Given the description of an element on the screen output the (x, y) to click on. 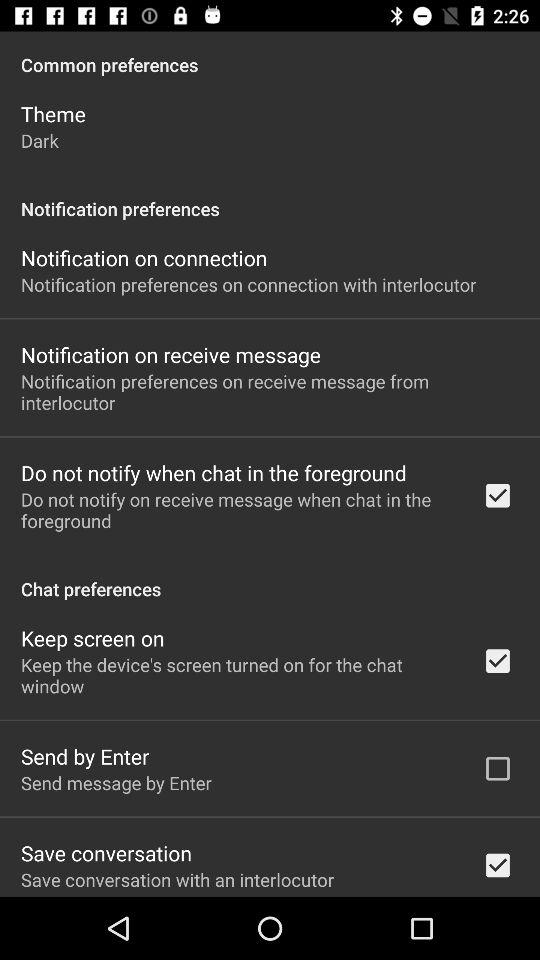
jump to dark app (39, 140)
